Given the description of an element on the screen output the (x, y) to click on. 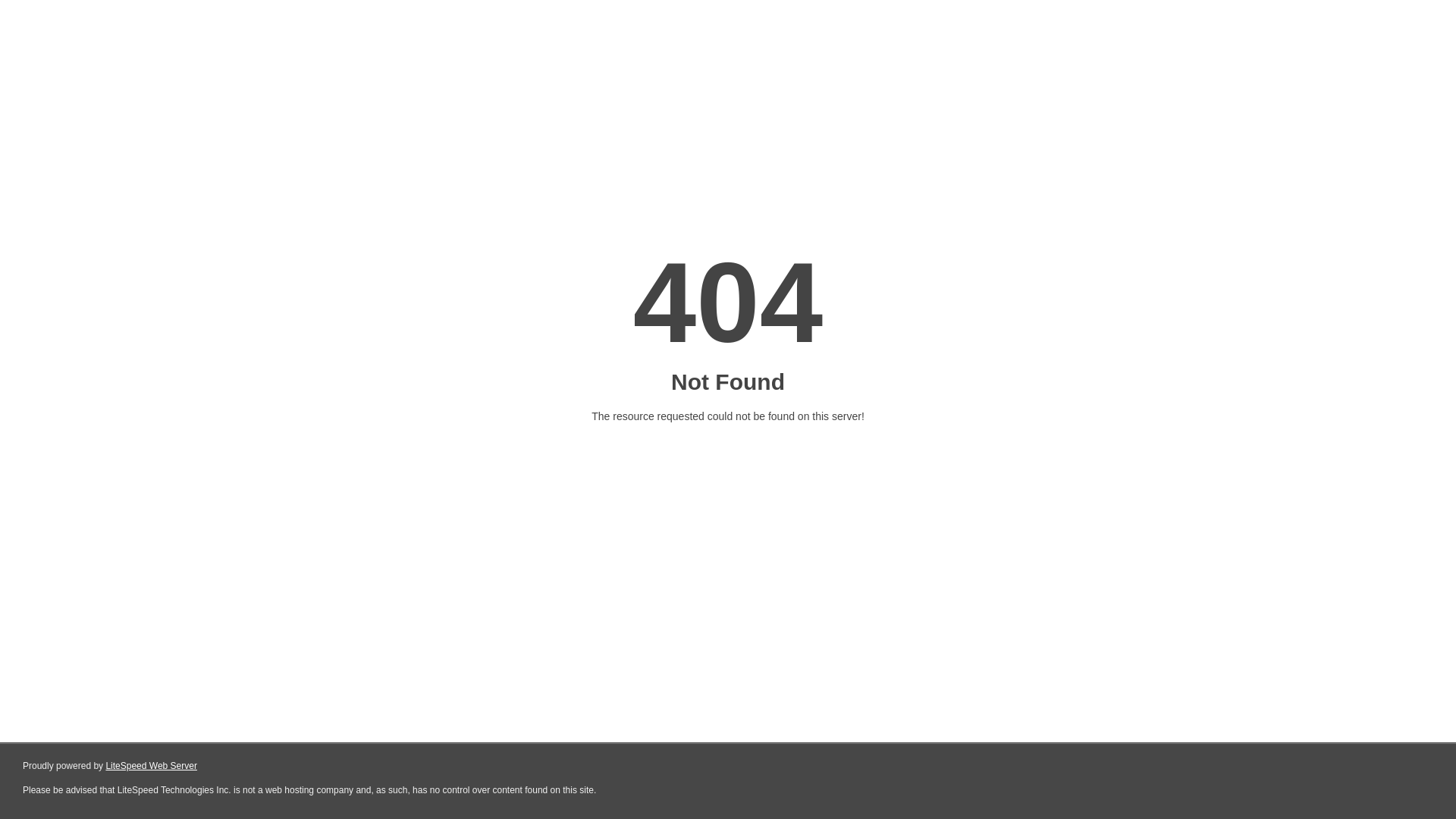
LiteSpeed Web Server Element type: text (151, 765)
